Given the description of an element on the screen output the (x, y) to click on. 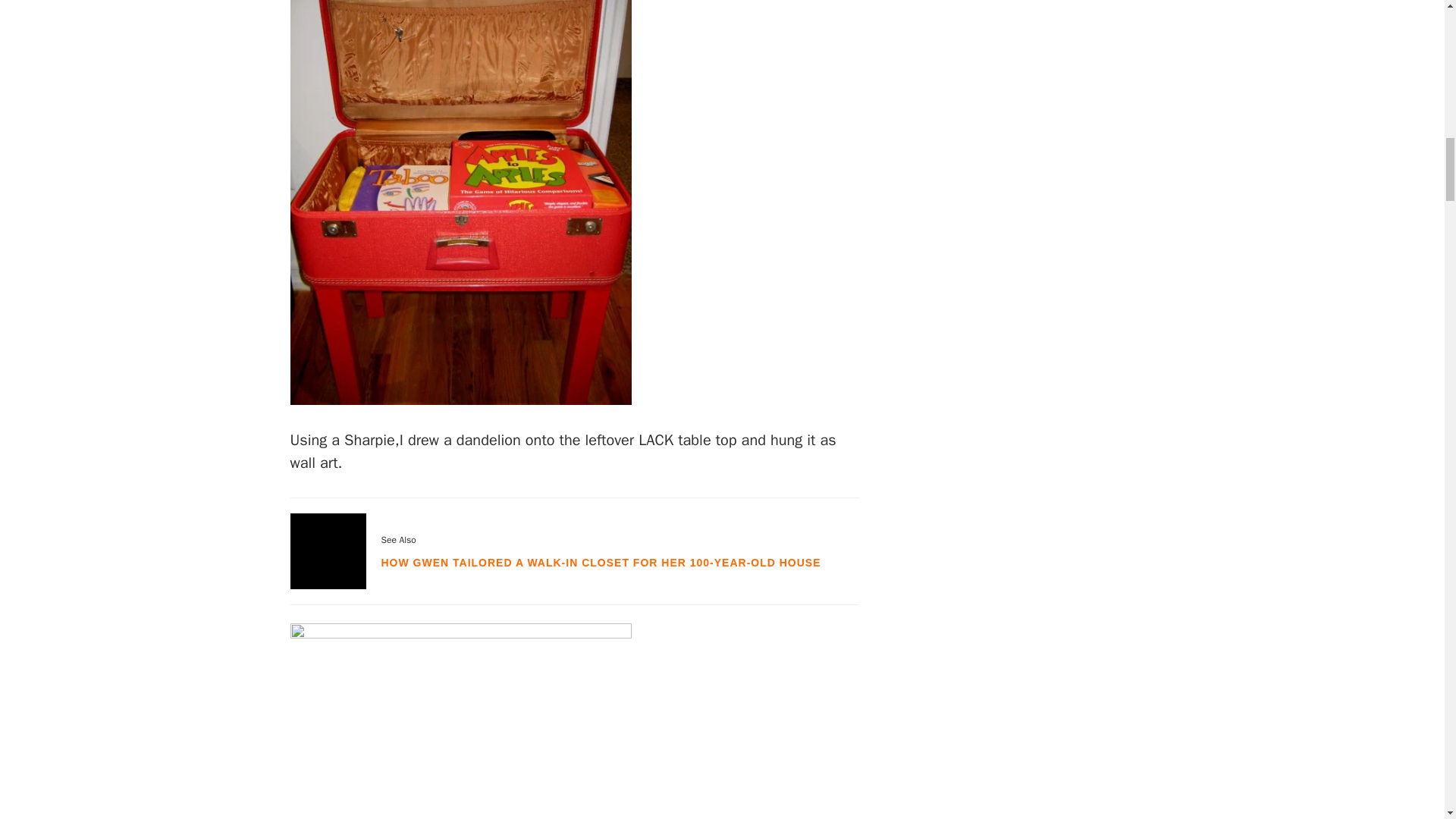
LACK Hack: Vintage Suitcase Table 5 (459, 399)
LACK Hack: Vintage Suitcase Table 6 (459, 719)
LACK Hack: Vintage Suitcase Table 6 (459, 633)
